Given the description of an element on the screen output the (x, y) to click on. 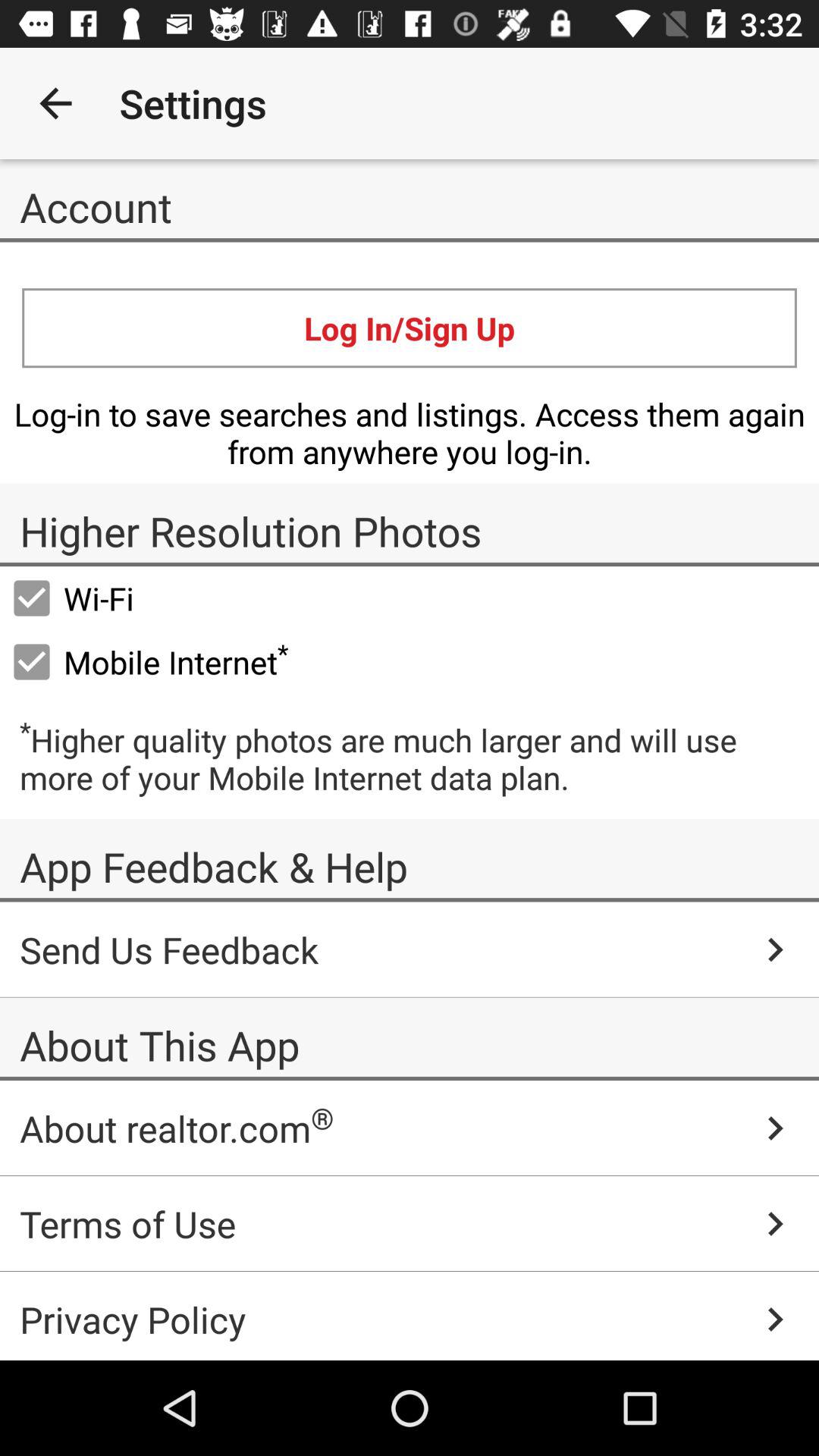
click item above about this app icon (409, 949)
